Given the description of an element on the screen output the (x, y) to click on. 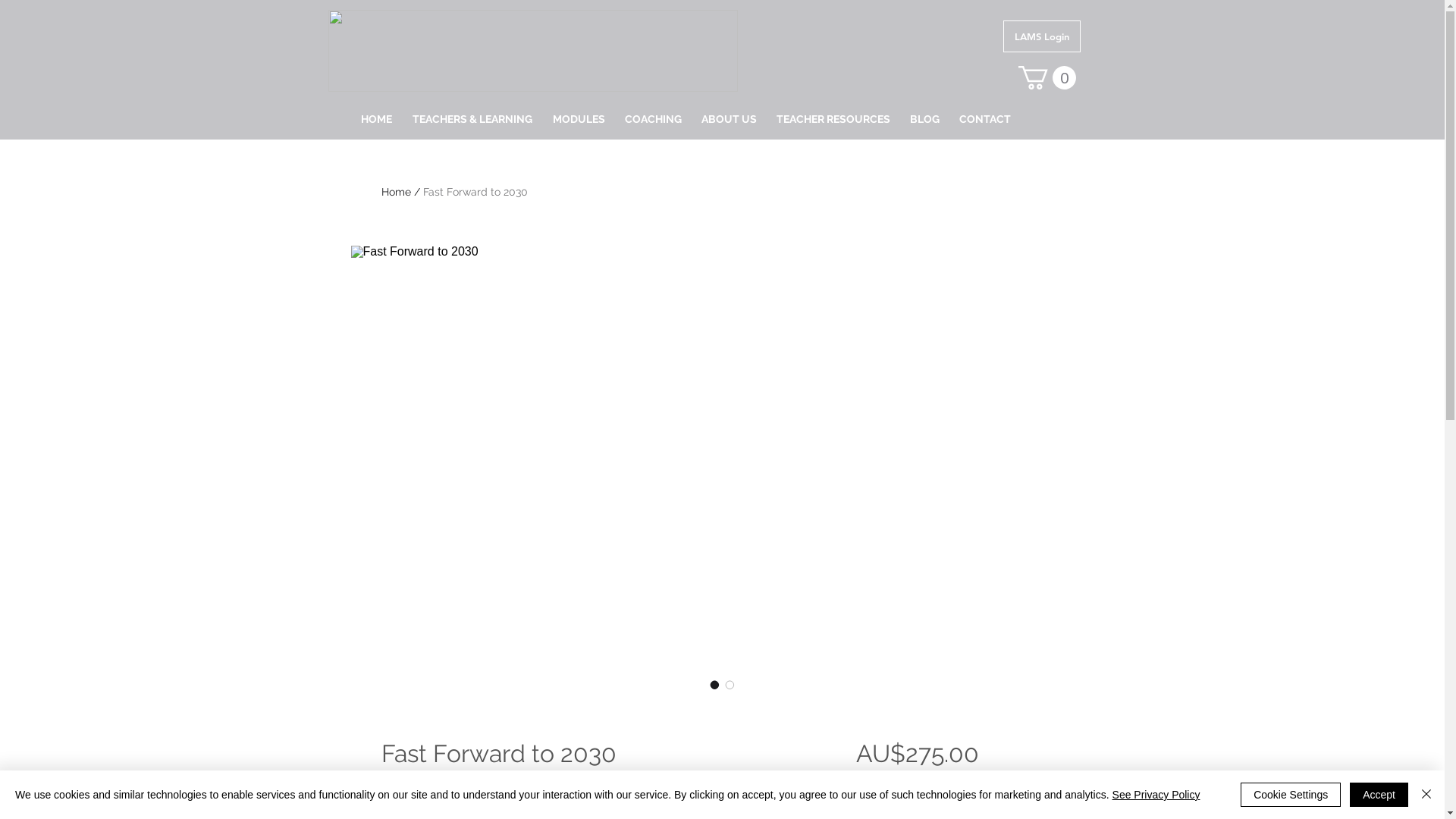
0 Element type: text (1046, 77)
TEACHERS & LEARNING Element type: text (471, 118)
MODULES Element type: text (578, 118)
TEACHER RESOURCES Element type: text (832, 118)
See Privacy Policy Element type: text (1156, 794)
LAMS Login Element type: text (1040, 36)
COACHING Element type: text (652, 118)
Fast Forward to 2030 Element type: text (475, 191)
Cookie Settings Element type: text (1290, 794)
ABOUT US Element type: text (728, 118)
HOME Element type: text (375, 118)
Home Element type: text (395, 191)
BLOG Element type: text (923, 118)
CONTACT Element type: text (984, 118)
Accept Element type: text (1378, 794)
